Given the description of an element on the screen output the (x, y) to click on. 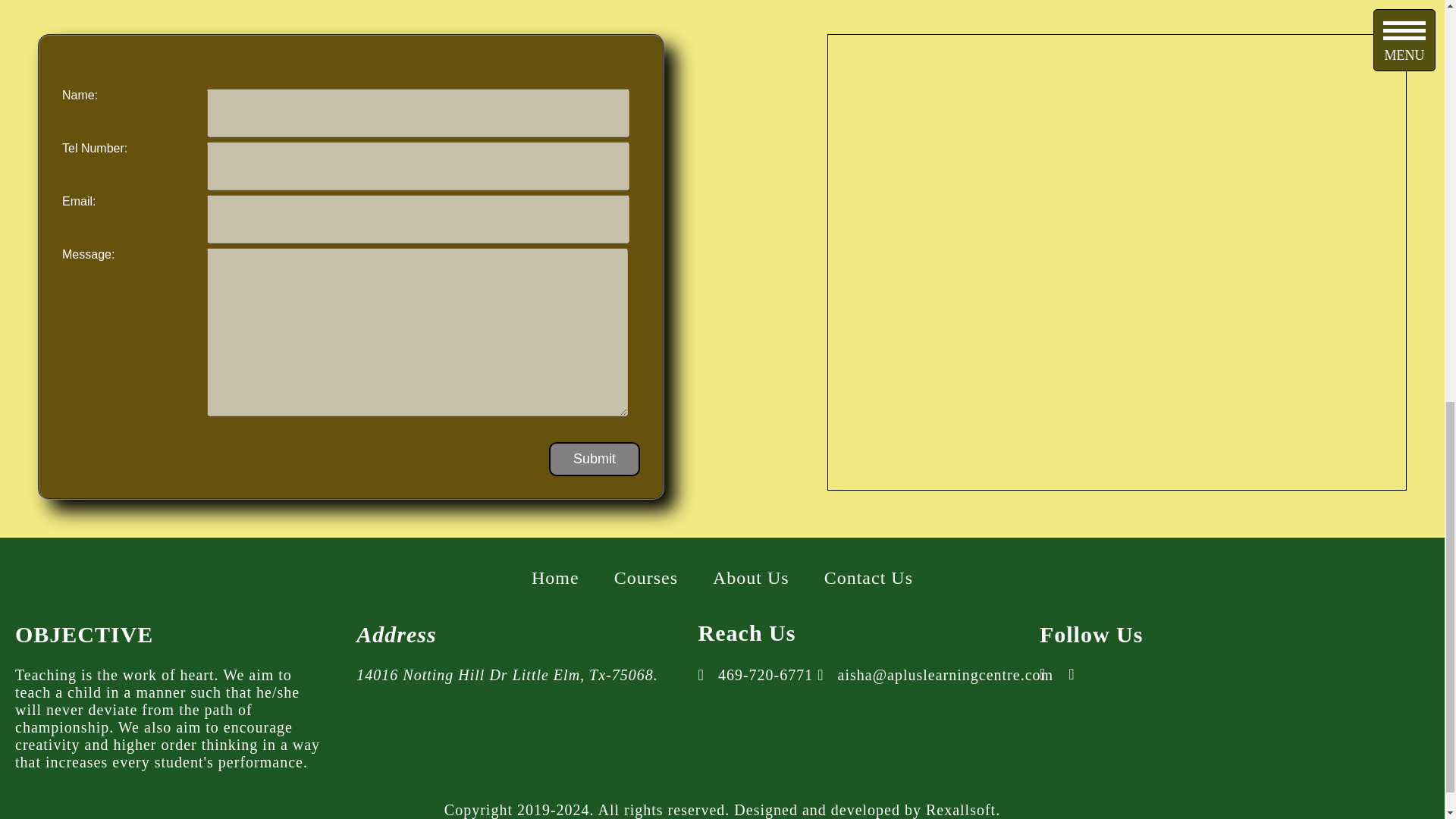
About Us (751, 577)
Submit (594, 458)
Contact Us (868, 577)
Courses (646, 577)
Submit (594, 458)
Rexallsoft. (963, 809)
Home (555, 577)
